Given the description of an element on the screen output the (x, y) to click on. 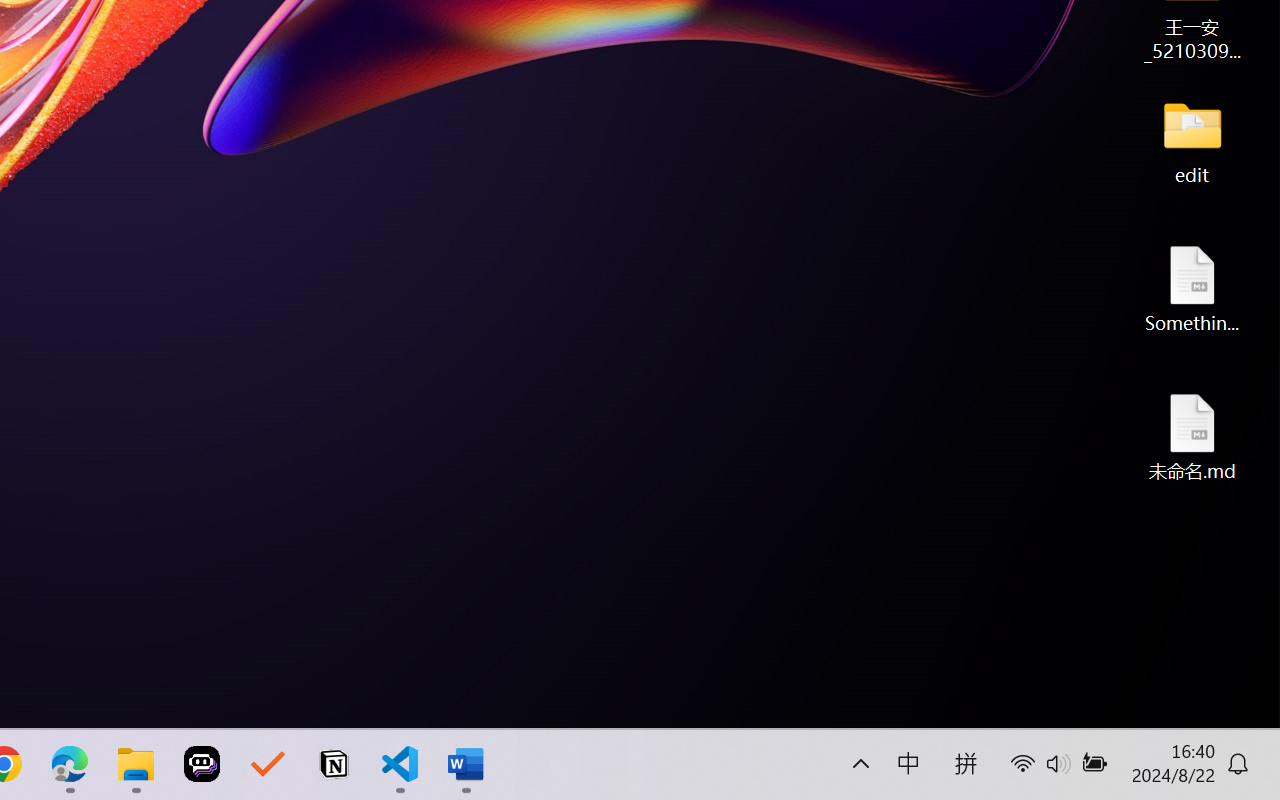
Poe (201, 764)
Something.md (1192, 288)
edit (1192, 140)
